Given the description of an element on the screen output the (x, y) to click on. 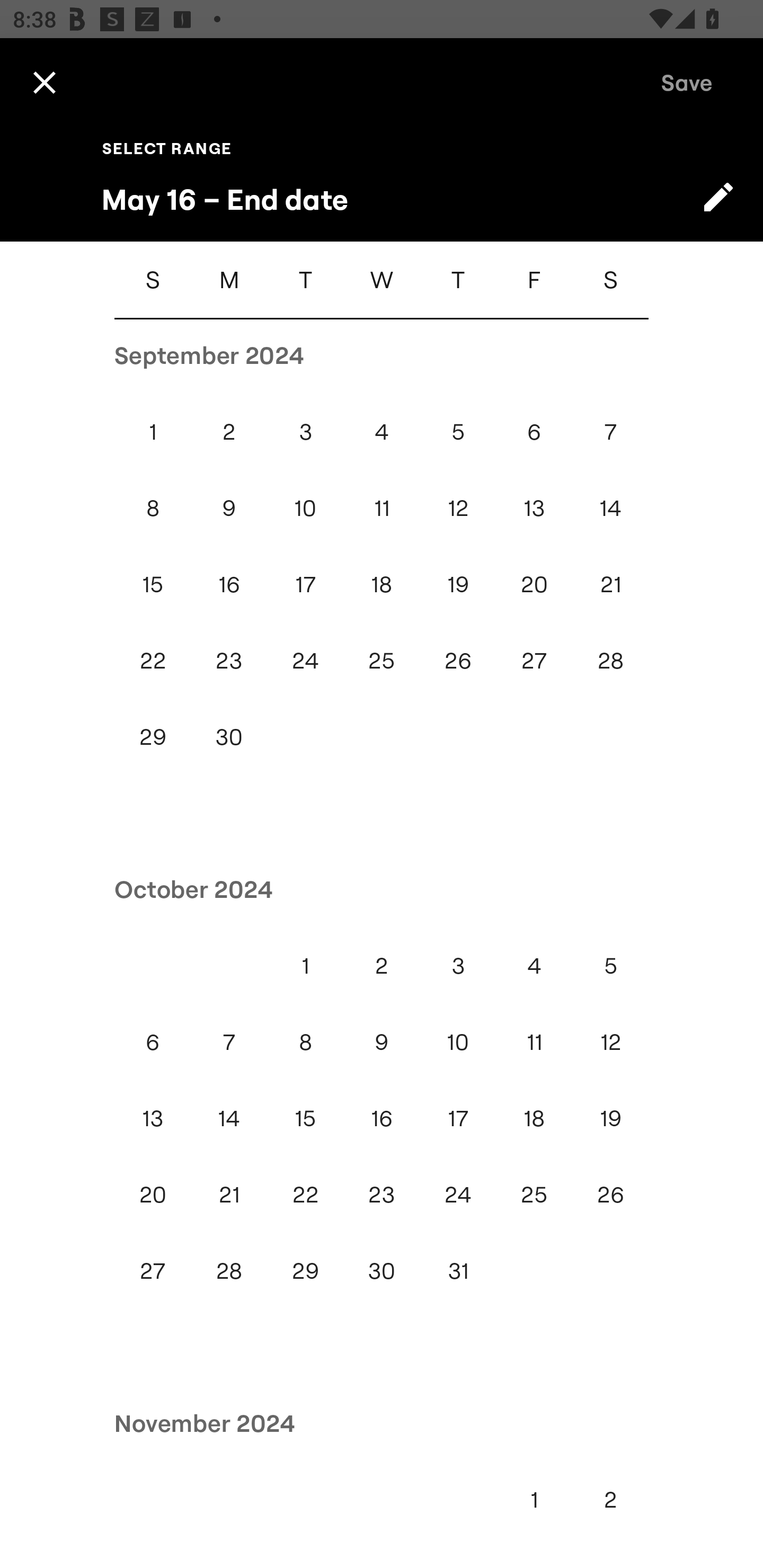
Cancel (44, 81)
Save (686, 81)
Switch to text input mode (718, 196)
1 Sun, Sep 1 (152, 431)
2 Mon, Sep 2 (228, 431)
3 Tue, Sep 3 (305, 431)
4 Wed, Sep 4 (381, 431)
5 Thu, Sep 5 (457, 431)
6 Fri, Sep 6 (533, 431)
7 Sat, Sep 7 (610, 431)
8 Sun, Sep 8 (152, 507)
9 Mon, Sep 9 (228, 507)
10 Tue, Sep 10 (305, 507)
11 Wed, Sep 11 (381, 507)
12 Thu, Sep 12 (457, 507)
13 Fri, Sep 13 (533, 507)
14 Sat, Sep 14 (610, 507)
15 Sun, Sep 15 (152, 583)
16 Mon, Sep 16 (228, 583)
17 Tue, Sep 17 (305, 583)
18 Wed, Sep 18 (381, 583)
19 Thu, Sep 19 (457, 583)
20 Fri, Sep 20 (533, 583)
21 Sat, Sep 21 (610, 583)
22 Sun, Sep 22 (152, 660)
23 Mon, Sep 23 (228, 660)
24 Tue, Sep 24 (305, 660)
25 Wed, Sep 25 (381, 660)
26 Thu, Sep 26 (457, 660)
27 Fri, Sep 27 (533, 660)
28 Sat, Sep 28 (610, 660)
29 Sun, Sep 29 (152, 736)
30 Mon, Sep 30 (228, 736)
1 Tue, Oct 1 (305, 965)
2 Wed, Oct 2 (381, 965)
3 Thu, Oct 3 (457, 965)
4 Fri, Oct 4 (533, 965)
5 Sat, Oct 5 (610, 965)
6 Sun, Oct 6 (152, 1041)
7 Mon, Oct 7 (228, 1041)
8 Tue, Oct 8 (305, 1041)
9 Wed, Oct 9 (381, 1041)
10 Thu, Oct 10 (457, 1041)
11 Fri, Oct 11 (533, 1041)
12 Sat, Oct 12 (610, 1041)
13 Sun, Oct 13 (152, 1118)
14 Mon, Oct 14 (228, 1118)
15 Tue, Oct 15 (305, 1118)
16 Wed, Oct 16 (381, 1118)
17 Thu, Oct 17 (457, 1118)
18 Fri, Oct 18 (533, 1118)
19 Sat, Oct 19 (610, 1118)
20 Sun, Oct 20 (152, 1194)
21 Mon, Oct 21 (228, 1194)
22 Tue, Oct 22 (305, 1194)
23 Wed, Oct 23 (381, 1194)
24 Thu, Oct 24 (457, 1194)
25 Fri, Oct 25 (533, 1194)
26 Sat, Oct 26 (610, 1194)
27 Sun, Oct 27 (152, 1270)
28 Mon, Oct 28 (228, 1270)
29 Tue, Oct 29 (305, 1270)
30 Wed, Oct 30 (381, 1270)
31 Thu, Oct 31 (457, 1270)
1 Fri, Nov 1 (533, 1499)
2 Sat, Nov 2 (610, 1499)
